Given the description of an element on the screen output the (x, y) to click on. 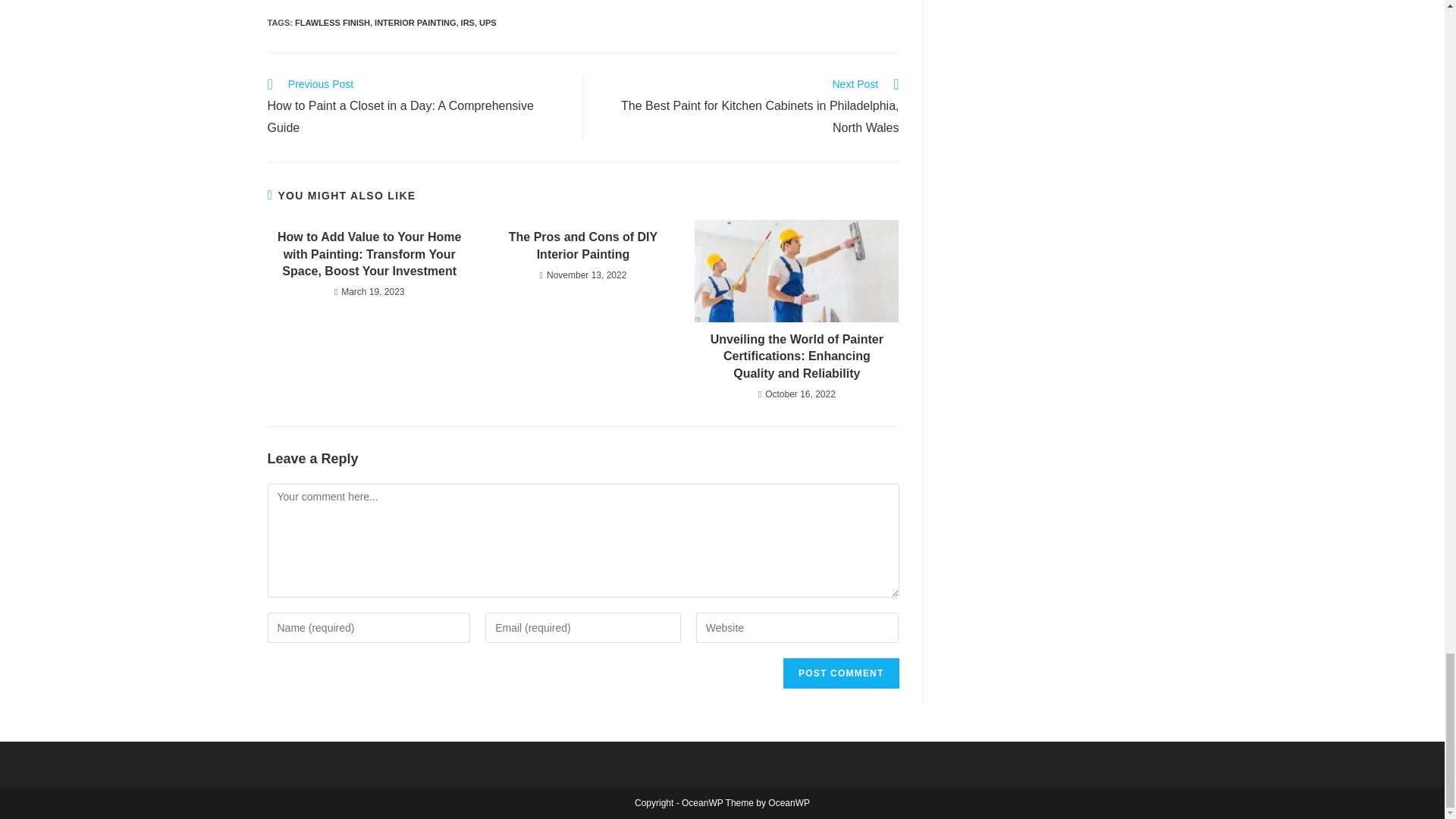
Post Comment (840, 673)
IRS (467, 22)
The Pros and Cons of DIY Interior Painting (582, 245)
INTERIOR PAINTING (414, 22)
Post Comment (840, 673)
FLAWLESS FINISH (332, 22)
